Given the description of an element on the screen output the (x, y) to click on. 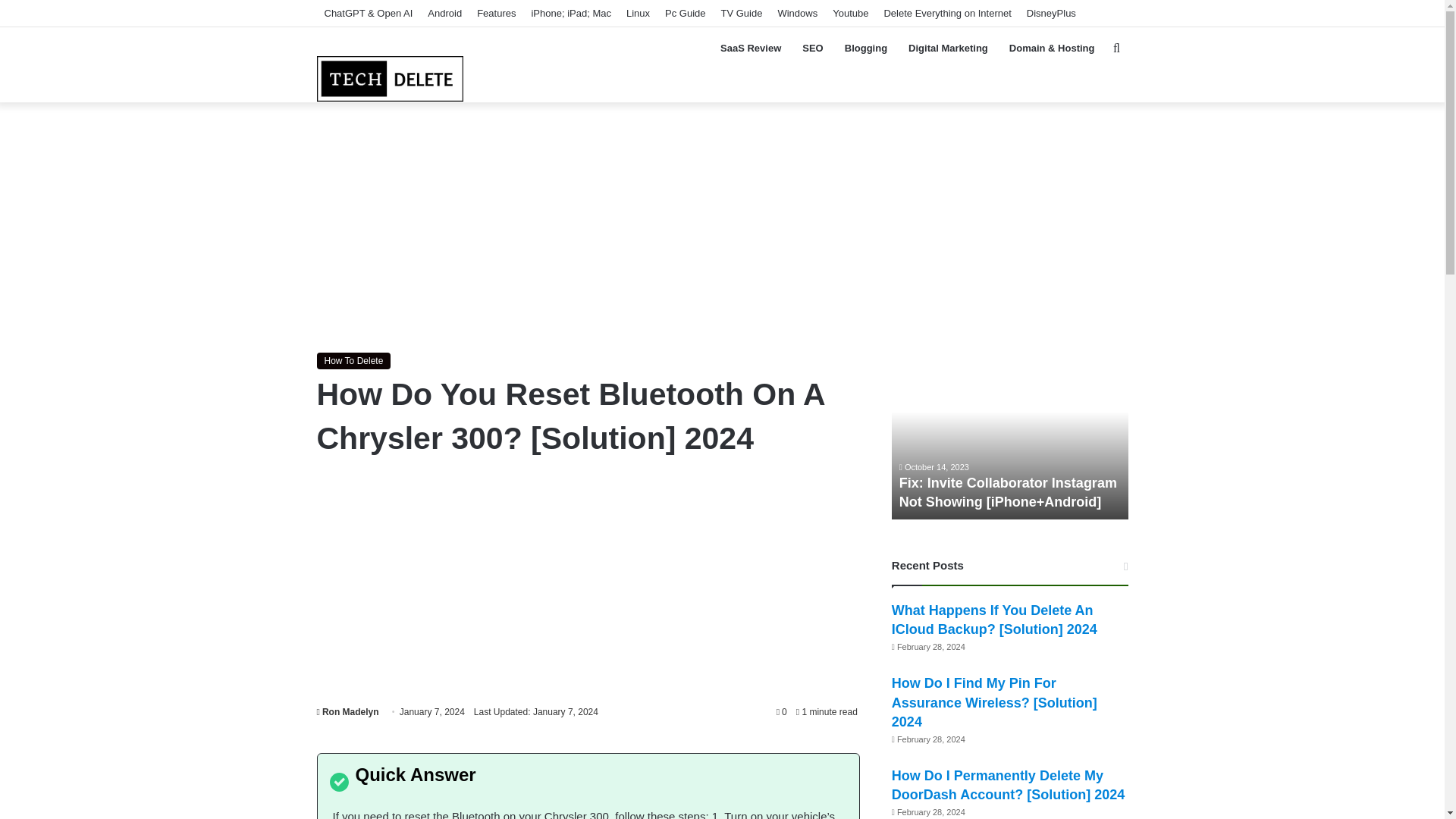
Tech Delete (390, 63)
Android (444, 13)
How To Delete (354, 360)
Windows (797, 13)
Youtube (850, 13)
Blogging (866, 48)
Ron Madelyn (347, 711)
Features (495, 13)
DisneyPlus (1051, 13)
